Given the description of an element on the screen output the (x, y) to click on. 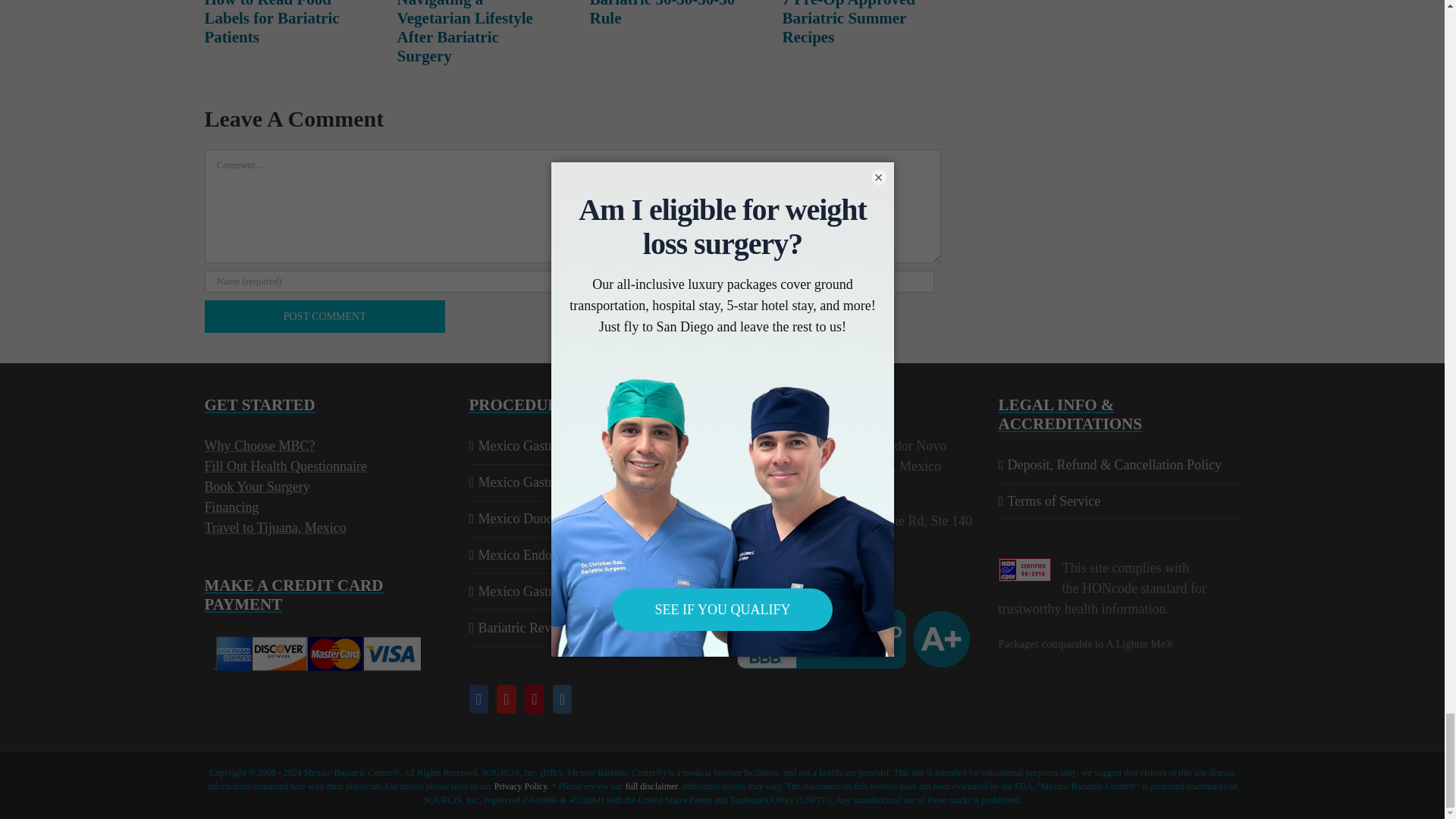
Bariatric 30-30-30-30 Rule (662, 13)
How to Read Food Labels for Bariatric Patients (272, 22)
Navigating a Vegetarian Lifestyle After Bariatric Surgery (464, 33)
7 Pre-Op Approved Bariatric Summer Recipes (849, 22)
Post Comment (325, 316)
